Given the description of an element on the screen output the (x, y) to click on. 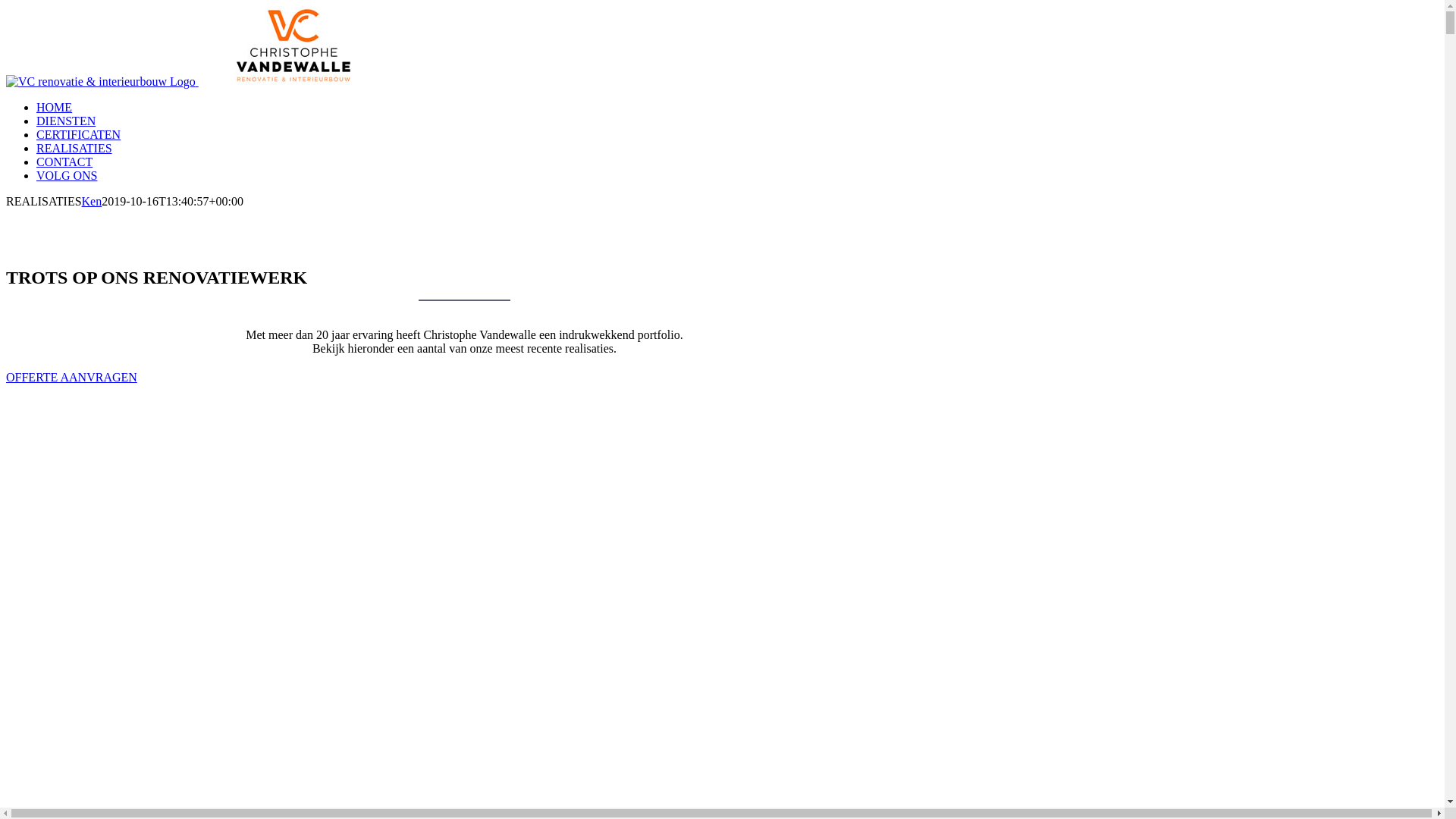
HOME Element type: text (54, 106)
CERTIFICATEN Element type: text (78, 134)
CONTACT Element type: text (64, 161)
REALISATIES Element type: text (74, 147)
DIENSTEN Element type: text (65, 120)
Ken Element type: text (91, 200)
OFFERTE AANVRAGEN Element type: text (71, 376)
VOLG ONS Element type: text (66, 175)
Ga naar inhoud Element type: text (5, 5)
